Given the description of an element on the screen output the (x, y) to click on. 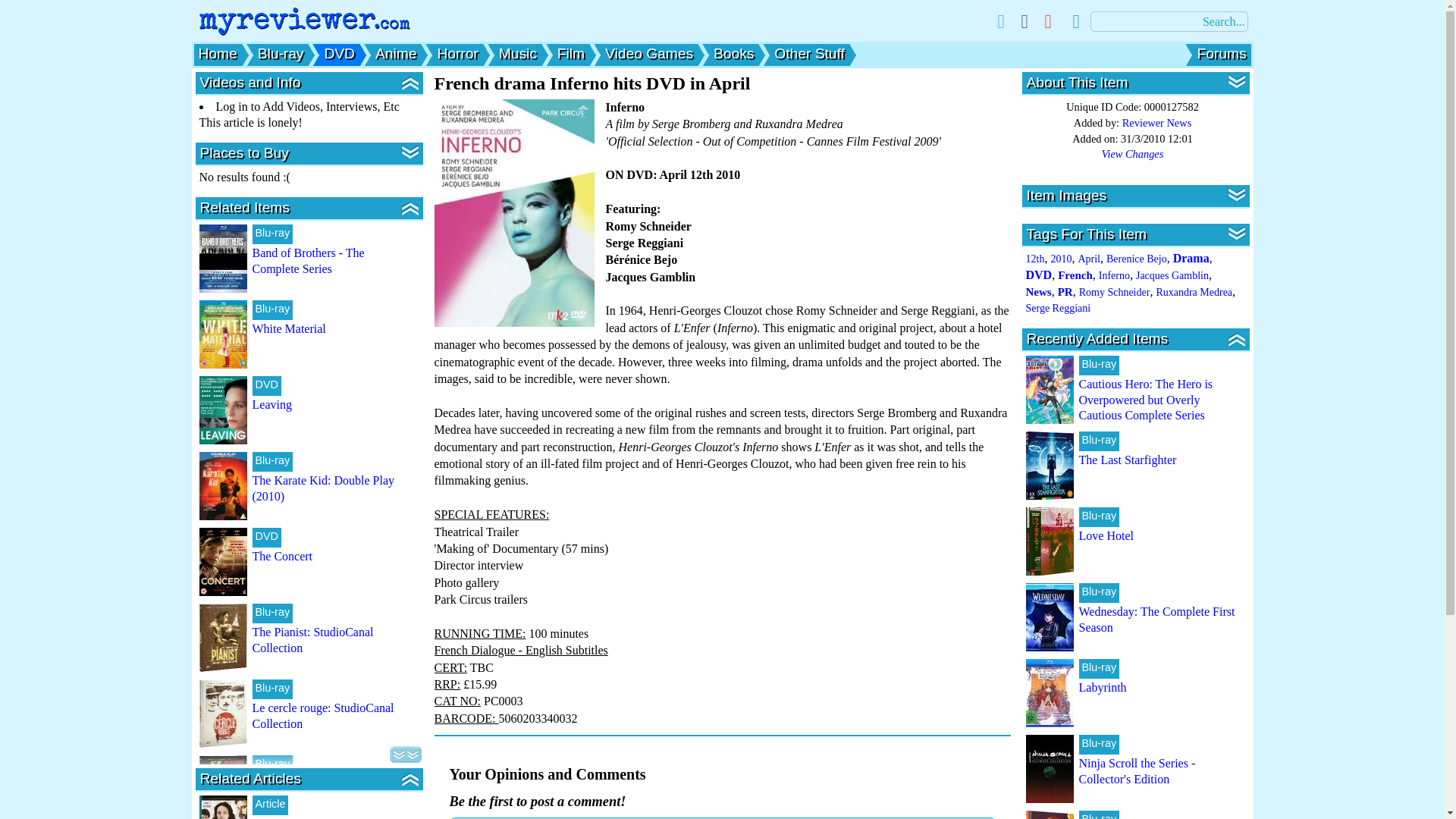
Next (406, 754)
Forums (1221, 53)
Share on Facebook (1024, 21)
Share on Twitter (1000, 21)
Search... (1168, 21)
Blu-ray (280, 53)
Leaving (271, 404)
Other Stuff (809, 53)
Home (217, 53)
